Given the description of an element on the screen output the (x, y) to click on. 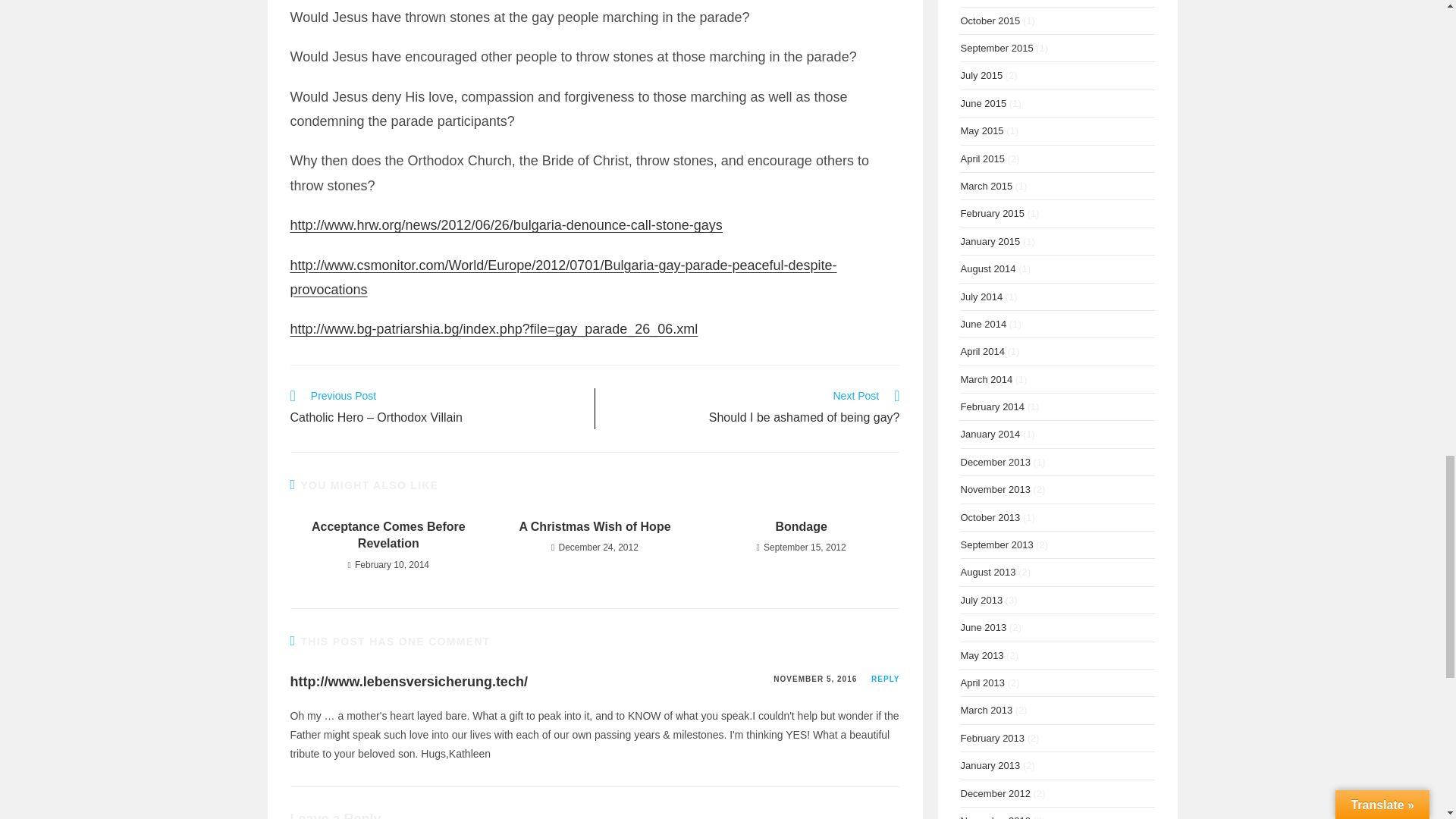
A Christmas Wish of Hope (594, 526)
Acceptance Comes Before Revelation (387, 535)
Bondage (801, 526)
REPLY (754, 408)
